Given the description of an element on the screen output the (x, y) to click on. 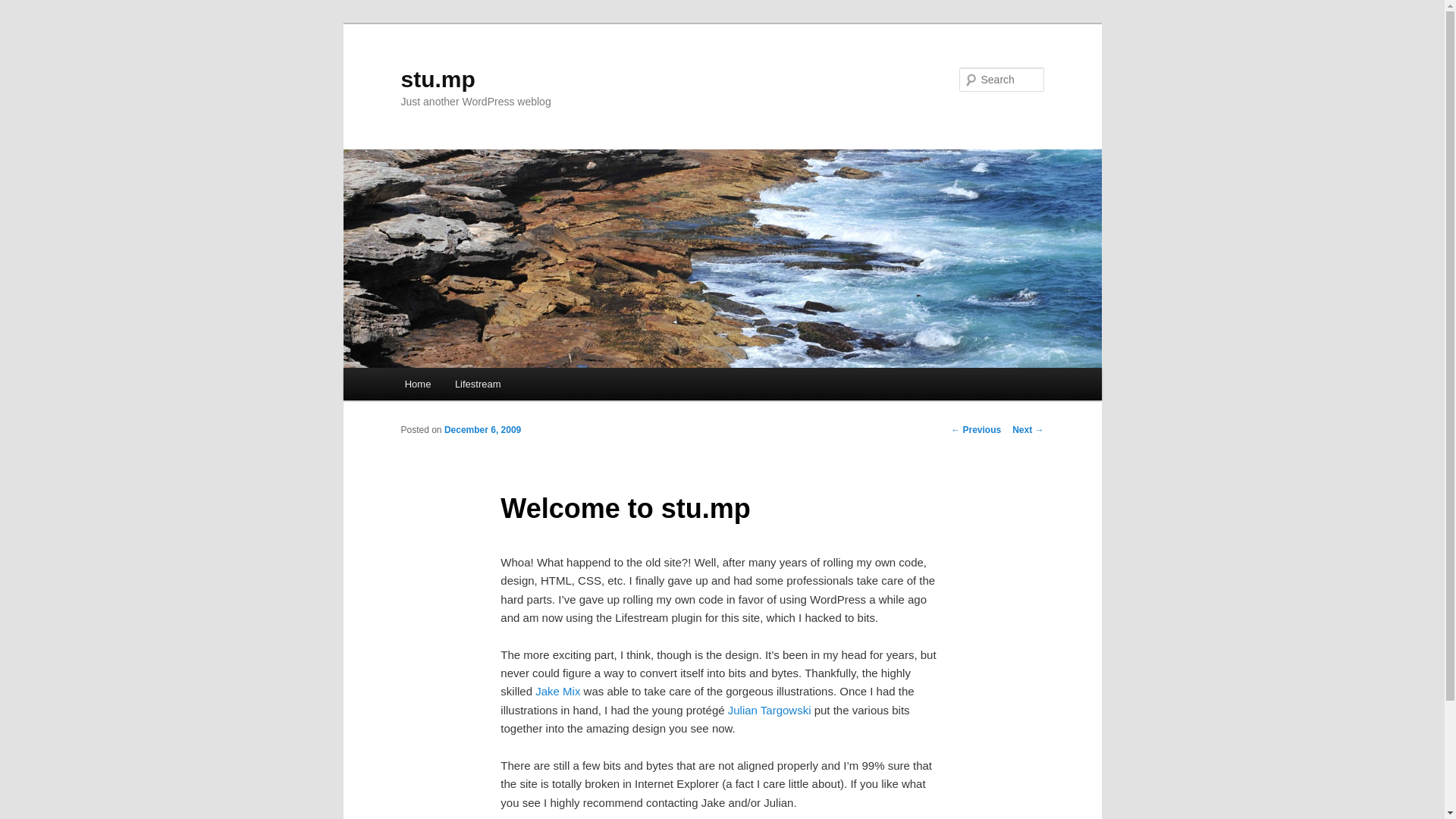
Lifestream (477, 383)
Search (24, 8)
Home (417, 383)
stu.mp (437, 78)
10:56 pm (482, 429)
December 6, 2009 (482, 429)
Jake Mix (557, 690)
Julian Targowski (769, 709)
